Given the description of an element on the screen output the (x, y) to click on. 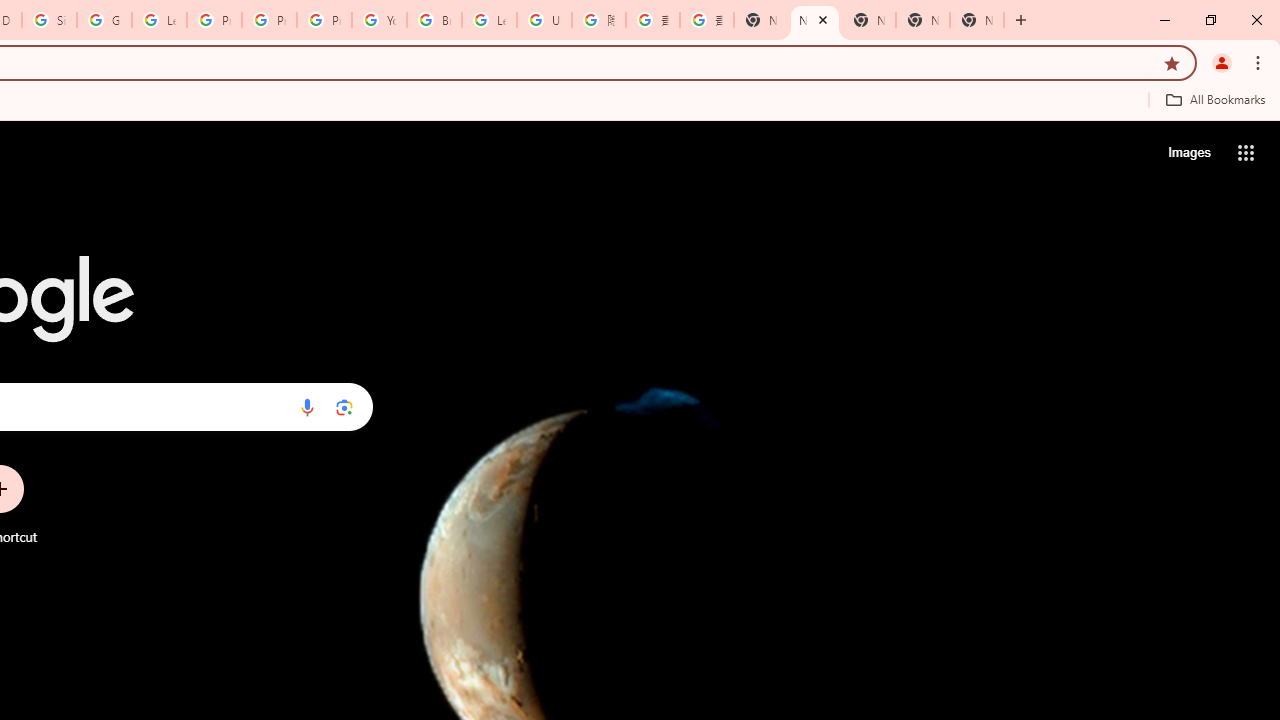
Sign in - Google Accounts (48, 20)
Privacy Help Center - Policies Help (268, 20)
